Given the description of an element on the screen output the (x, y) to click on. 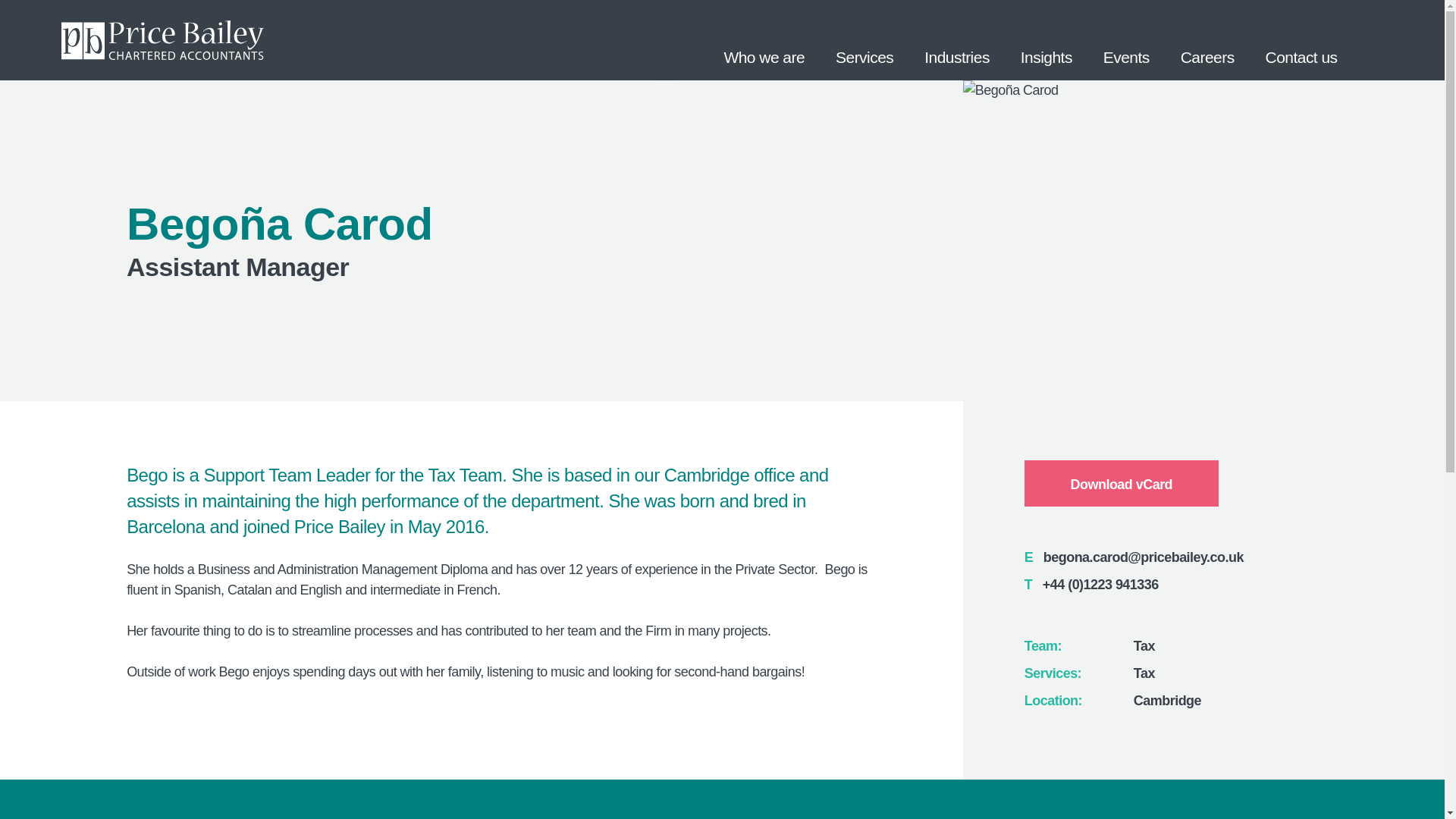
Contact us (1300, 40)
Who we are (764, 40)
Insights (1045, 40)
Careers (1206, 40)
Services (864, 40)
Events (1125, 40)
Industries (957, 40)
